Given the description of an element on the screen output the (x, y) to click on. 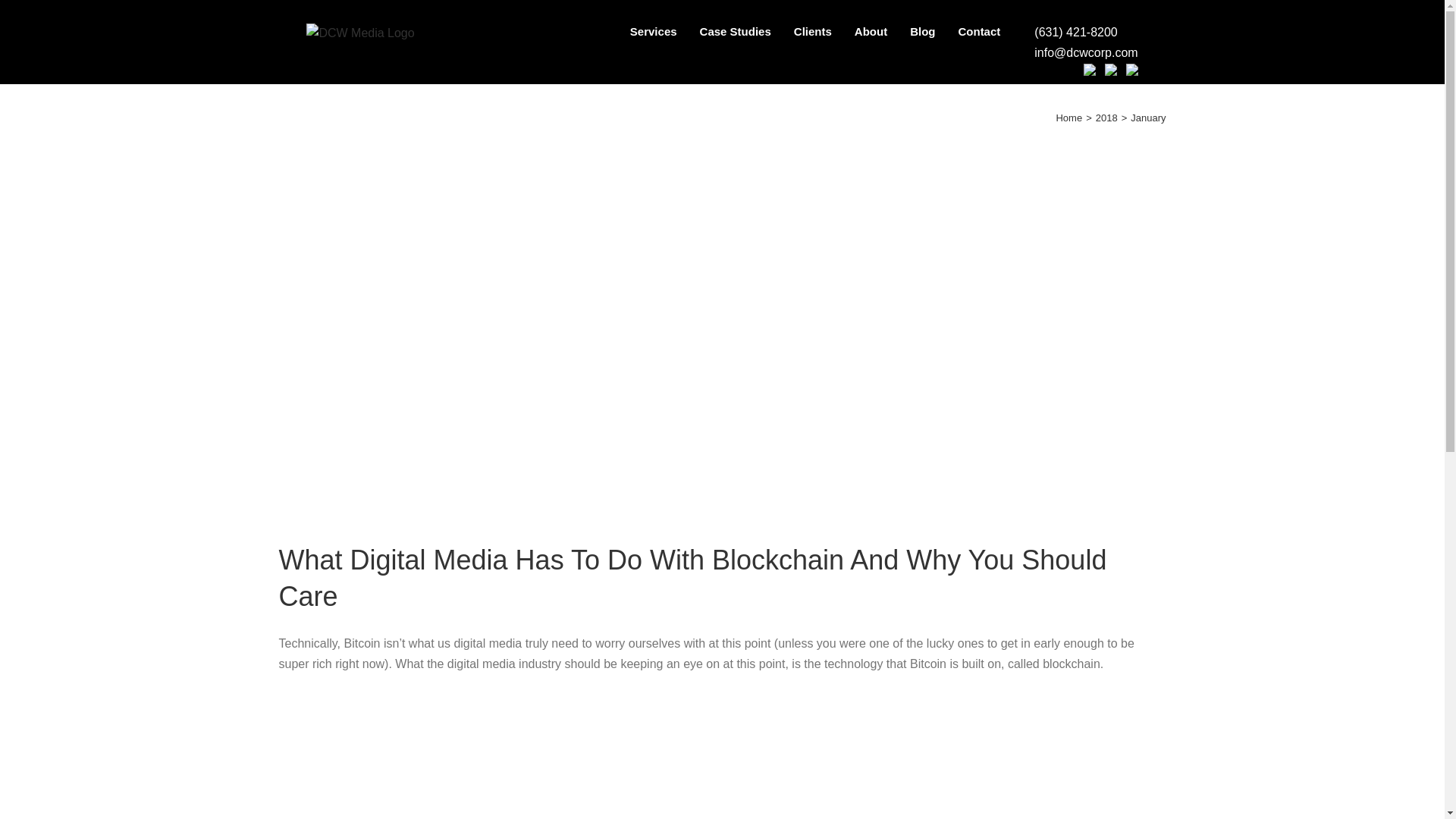
2018 (1107, 117)
Case Studies (735, 31)
Home (1068, 117)
